Given the description of an element on the screen output the (x, y) to click on. 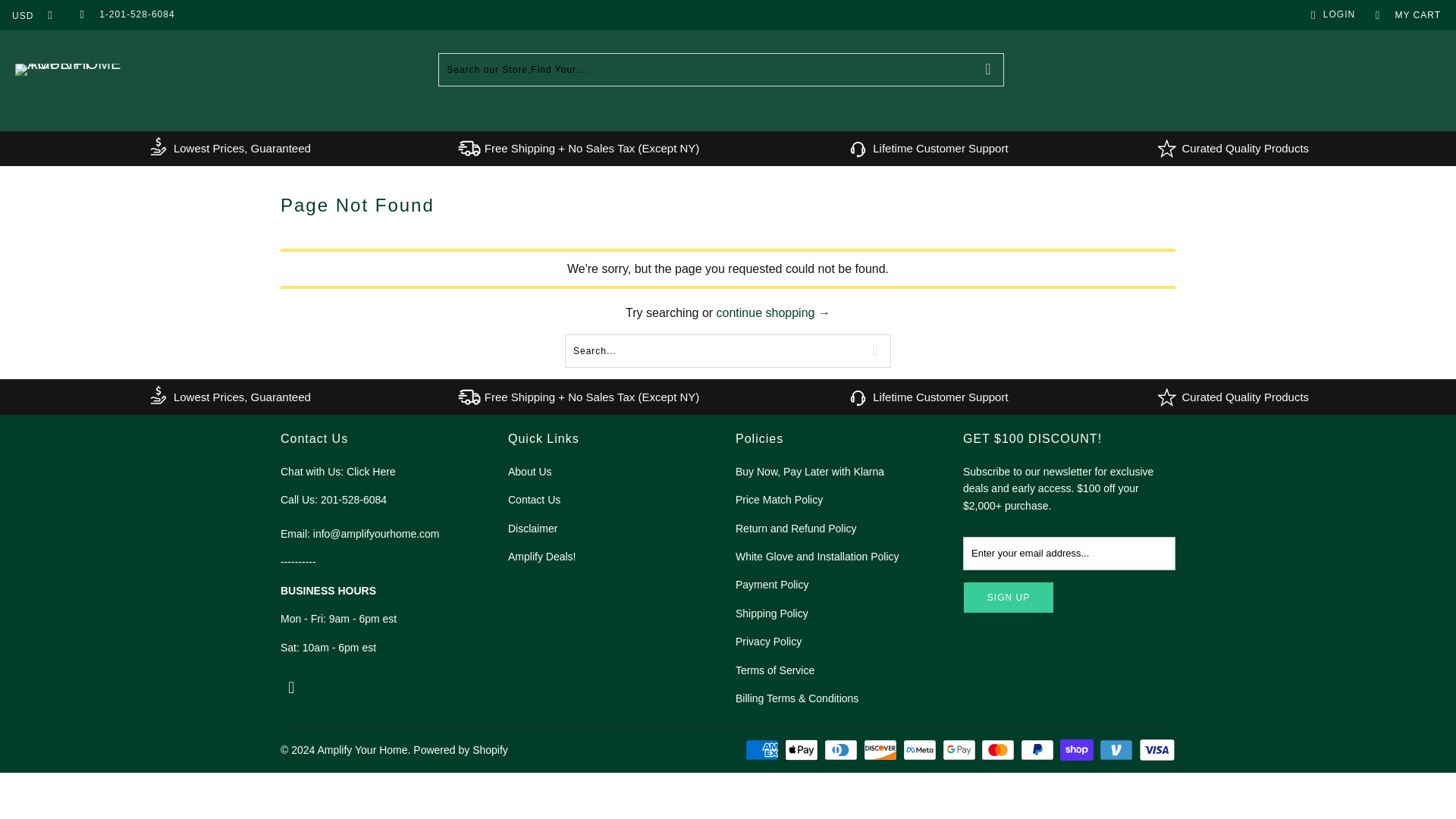
Venmo (1117, 749)
LOGIN (1330, 14)
Diners Club (842, 749)
Shop Pay (1077, 749)
USD (28, 15)
Email Amplify Your Home (81, 14)
Sign Up (1008, 597)
Meta Pay (920, 749)
1-201-528-6084 (136, 14)
PayPal (1038, 749)
